Given the description of an element on the screen output the (x, y) to click on. 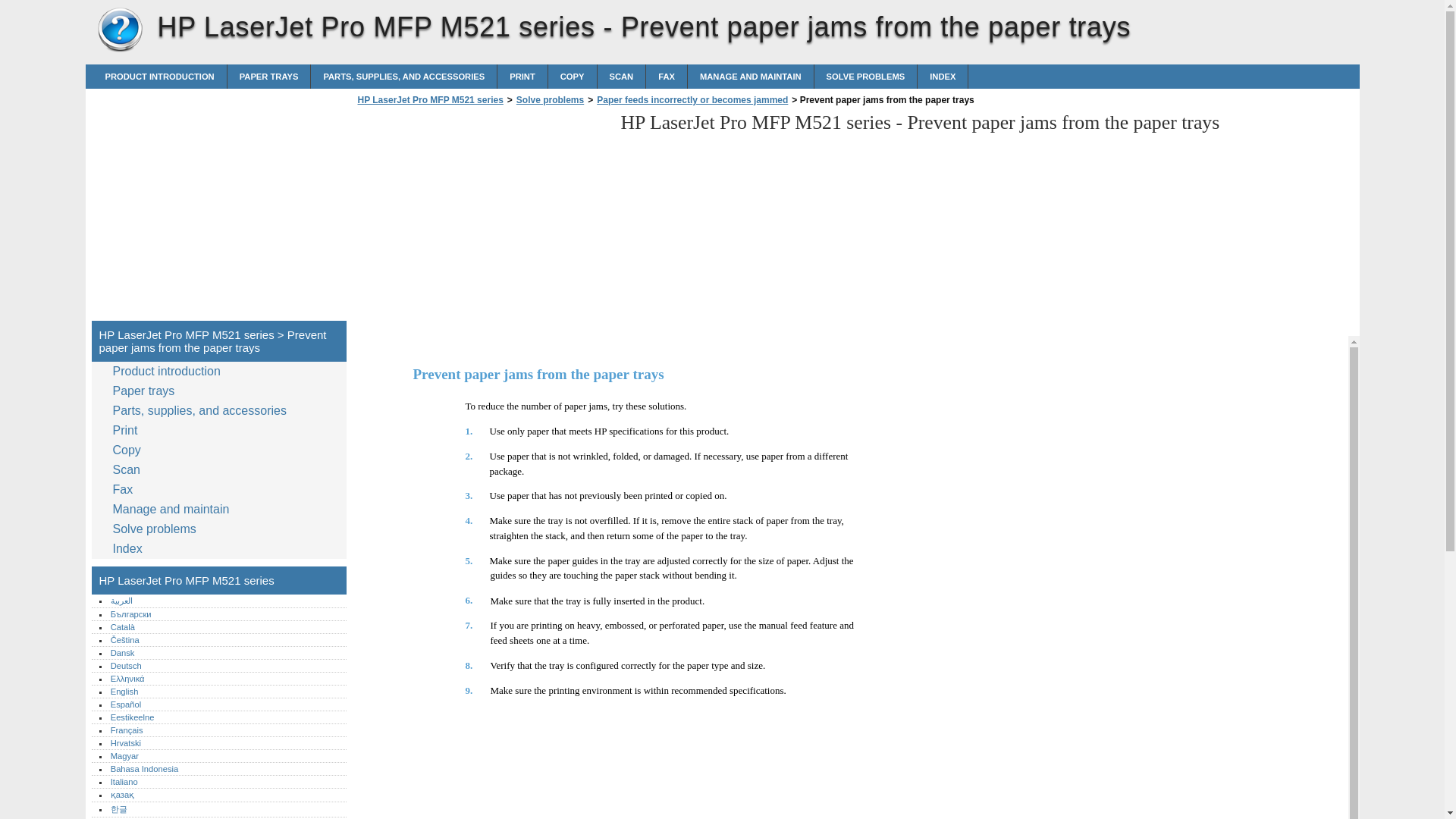
Fax (666, 76)
Paper trays (269, 76)
Index (942, 76)
Print (522, 76)
Paper trays (147, 391)
HP LaserJet Pro MFP M521 series (119, 30)
Product introduction (159, 76)
PARTS, SUPPLIES, AND ACCESSORIES (403, 76)
Parts, supplies, and accessories (403, 76)
FAX (666, 76)
INDEX (942, 76)
Product introduction (169, 371)
Solve problems (865, 76)
Parts, supplies, and accessories (203, 410)
Copy (572, 76)
